Given the description of an element on the screen output the (x, y) to click on. 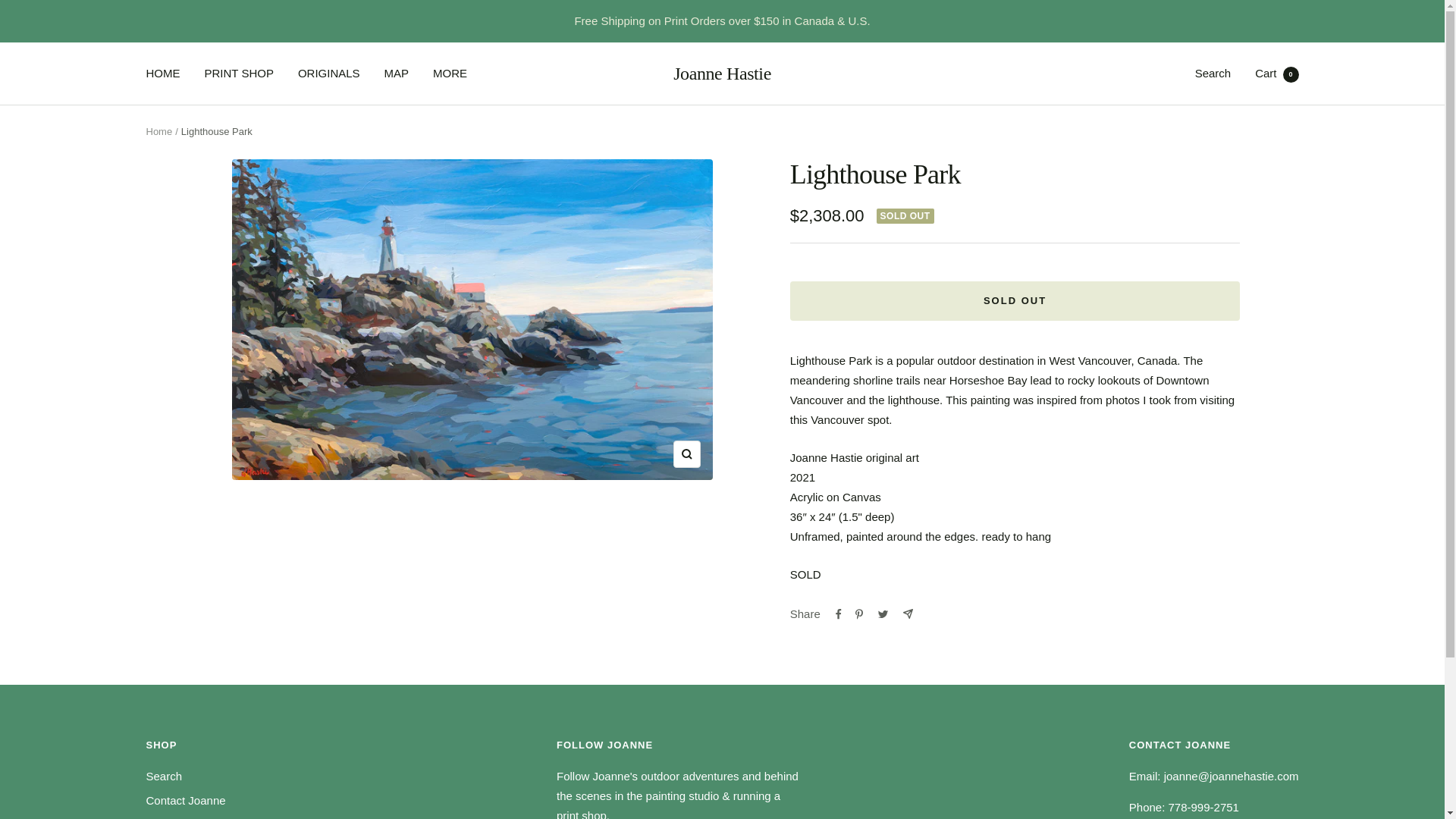
ORIGINALS (328, 73)
MAP (396, 73)
PRINT SHOP (239, 73)
HOME (162, 73)
Joanne Hastie (721, 73)
Privacy Policy (180, 816)
Contact Joanne (185, 800)
Search (1276, 72)
MORE (163, 776)
Home (449, 73)
Zoom (158, 131)
SOLD OUT (686, 453)
Search (1015, 301)
